Given the description of an element on the screen output the (x, y) to click on. 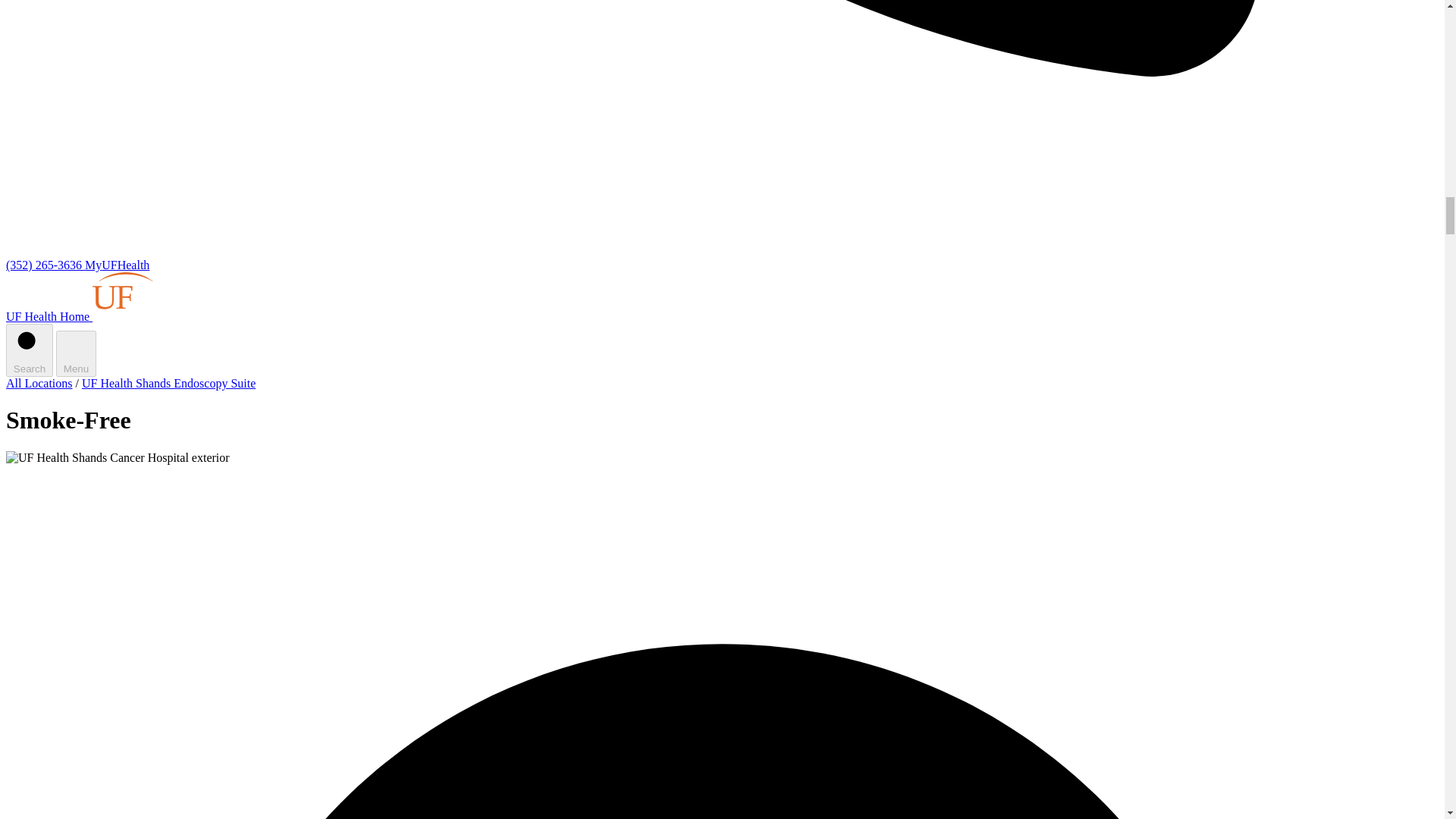
32086 (392, 465)
UF Health Shands Endoscopy Suite (168, 382)
UF Health Home (114, 316)
34748 (285, 465)
32209 (172, 465)
32608 (67, 465)
MyUFHealth (116, 264)
All Locations (38, 382)
